Given the description of an element on the screen output the (x, y) to click on. 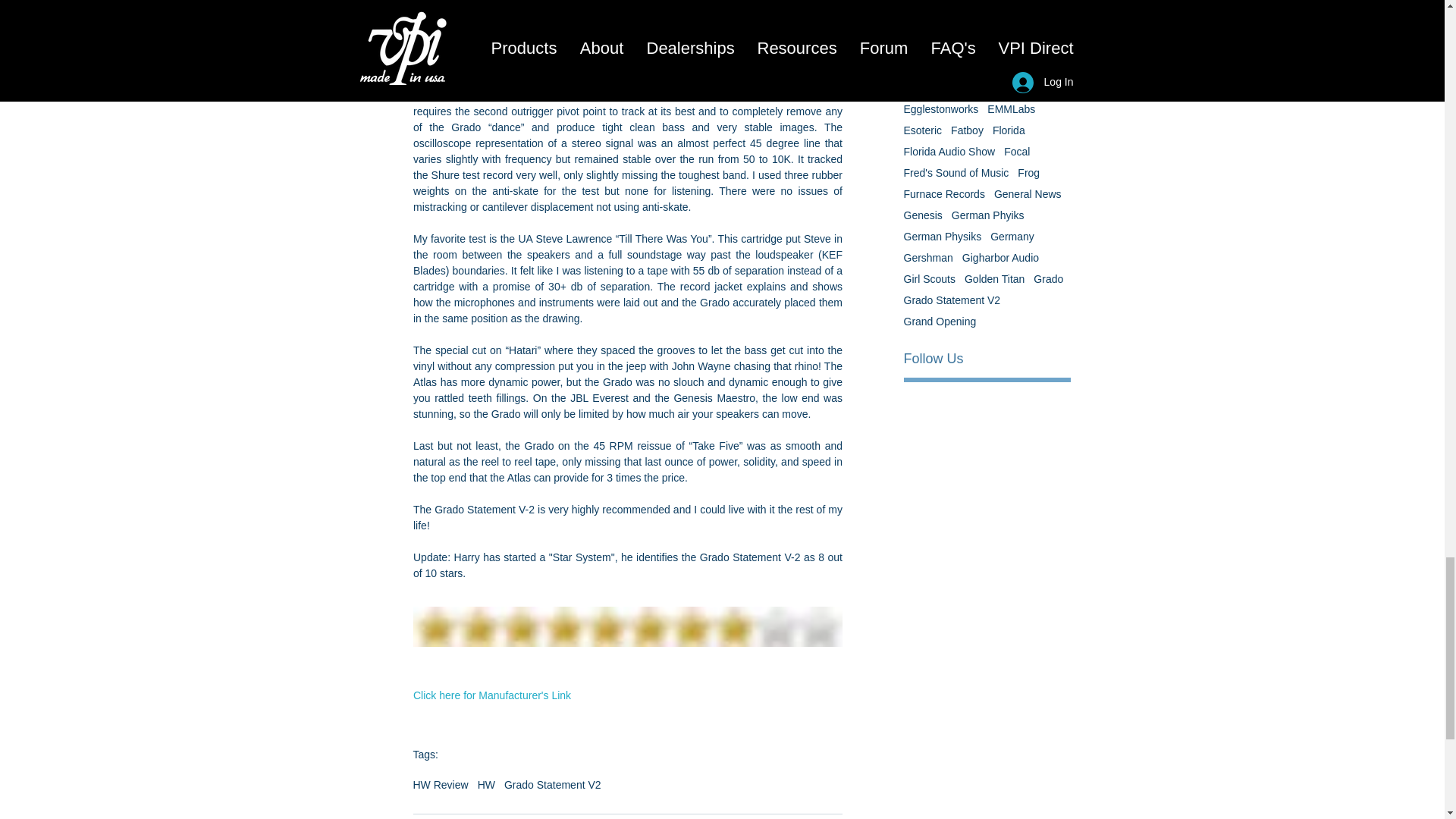
HW (486, 784)
Click here for Manufacturer's Link (491, 695)
HW Review (439, 784)
Grado Statement V2 (552, 784)
